Given the description of an element on the screen output the (x, y) to click on. 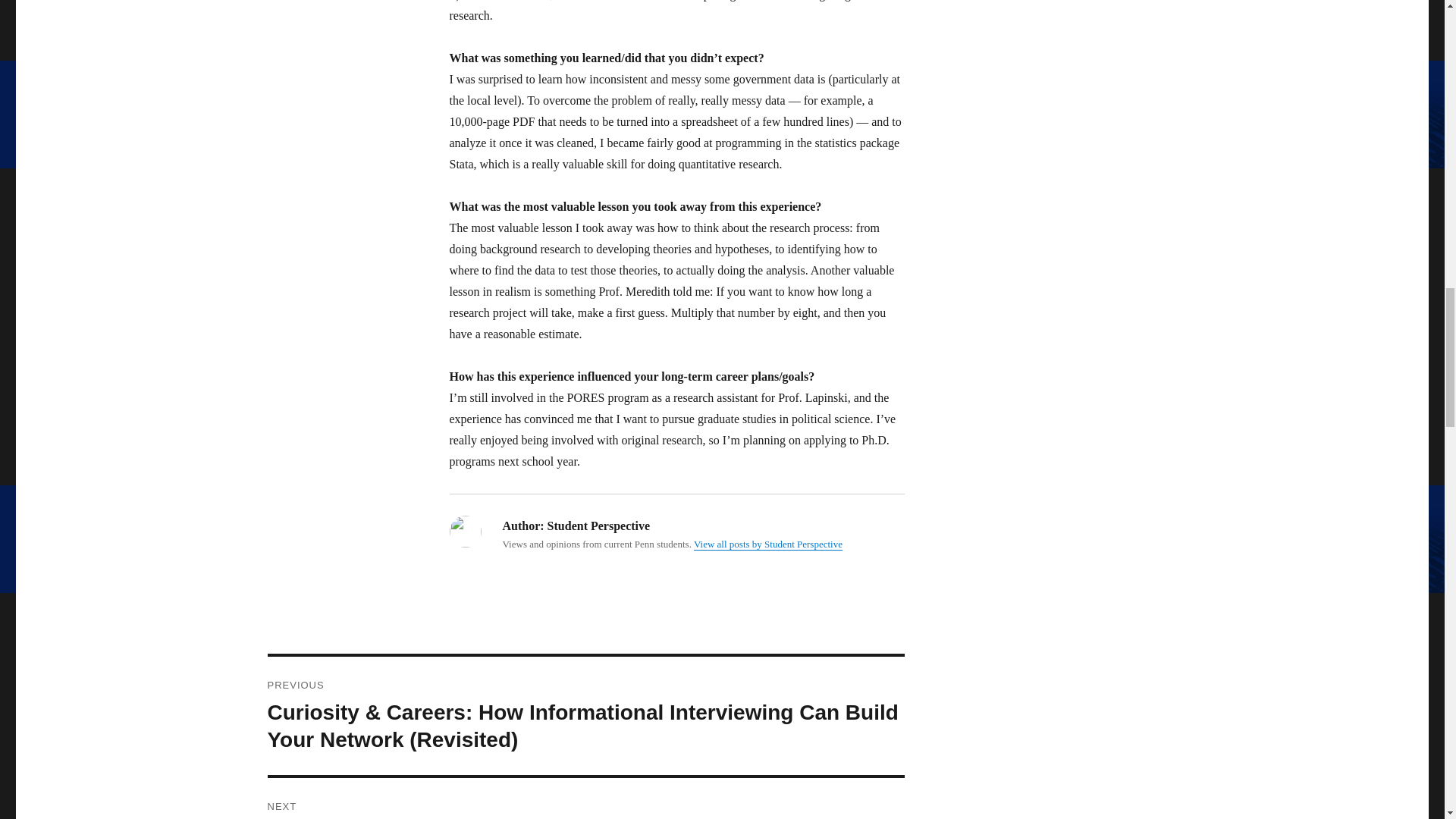
View all posts by Student Perspective (768, 543)
